Given the description of an element on the screen output the (x, y) to click on. 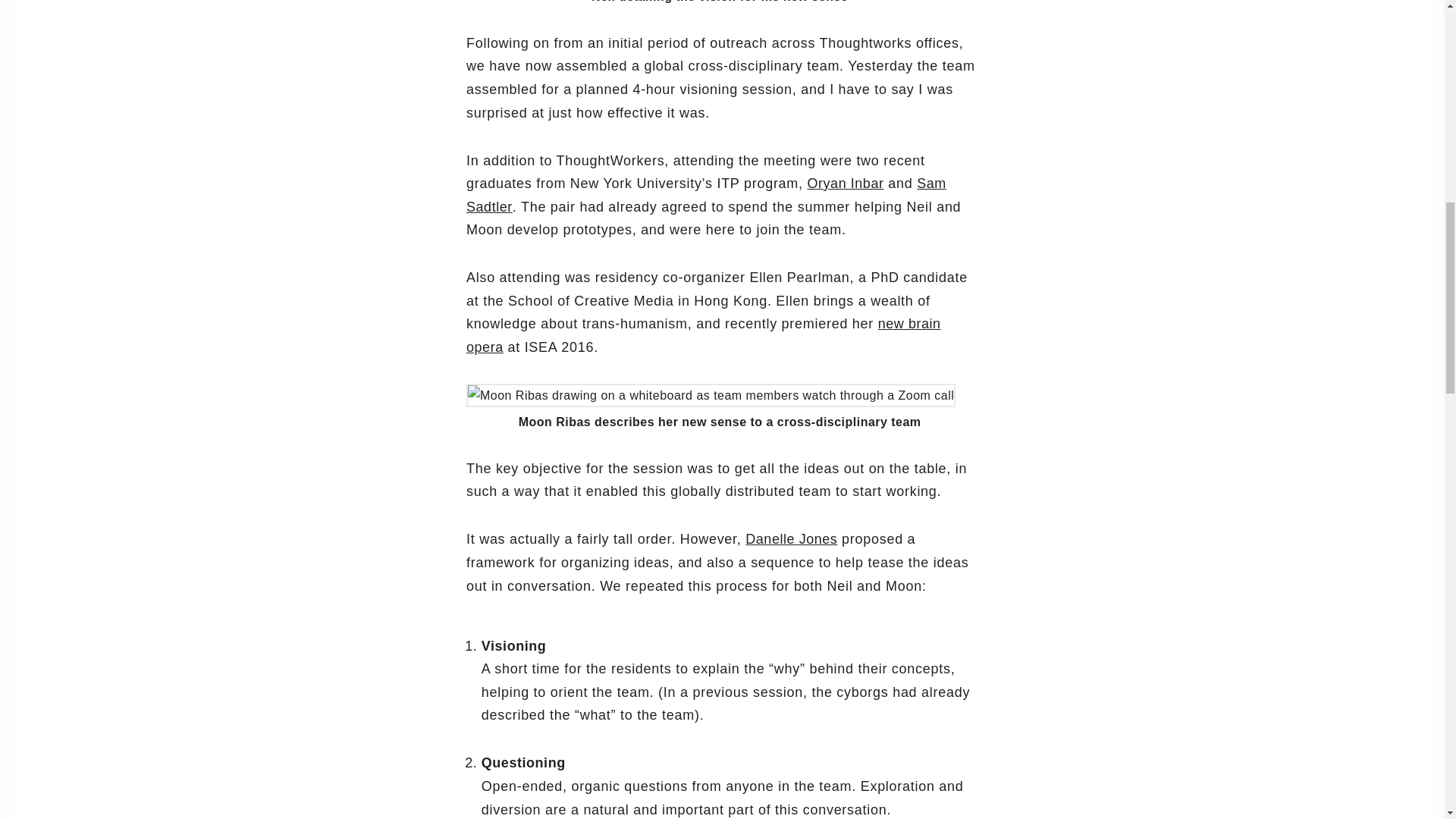
Danelle Jones (791, 539)
new brain opera (702, 335)
Oryan Inbar (844, 183)
Sam Sadtler (705, 195)
